Given the description of an element on the screen output the (x, y) to click on. 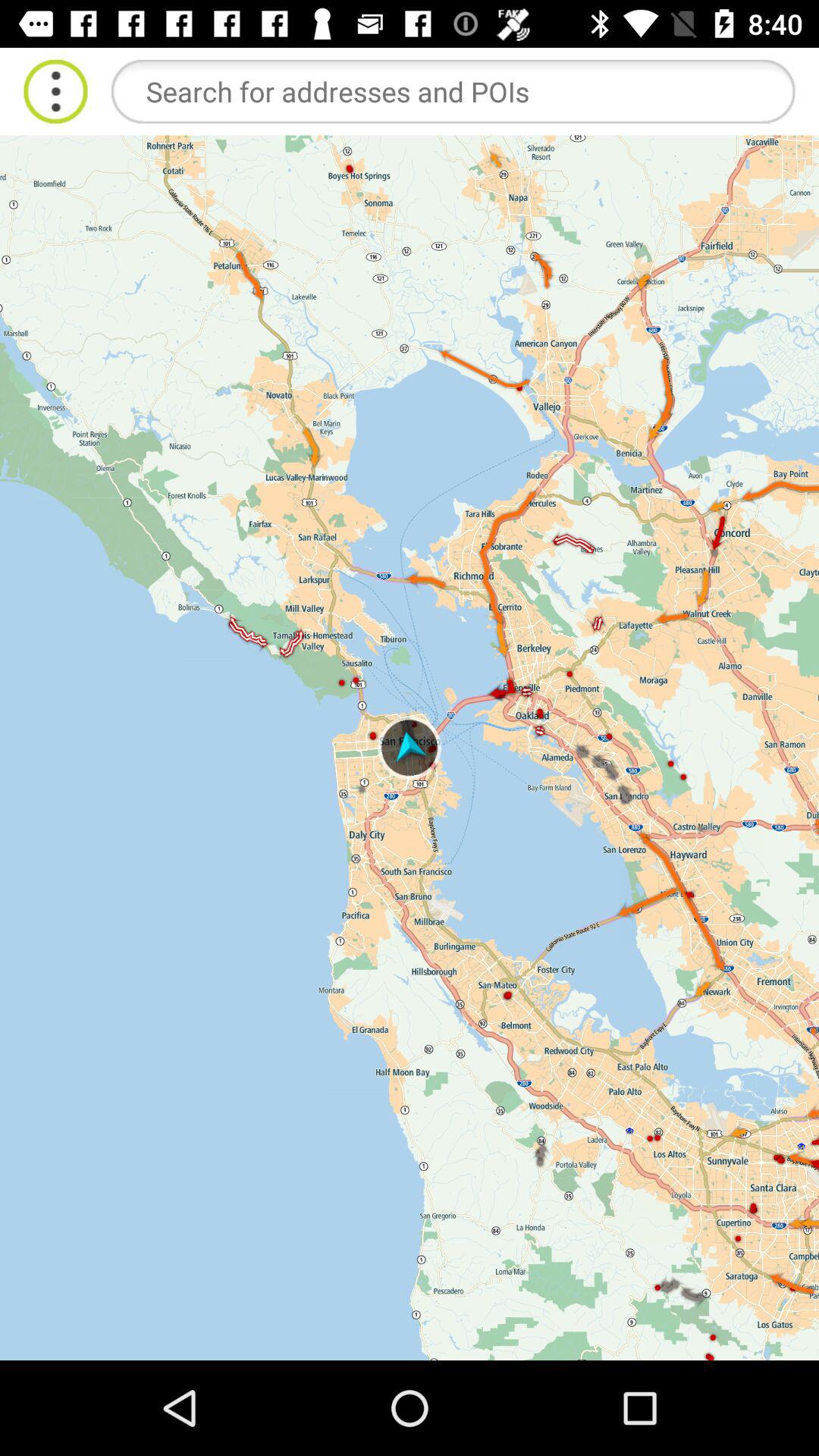
more options (55, 91)
